Given the description of an element on the screen output the (x, y) to click on. 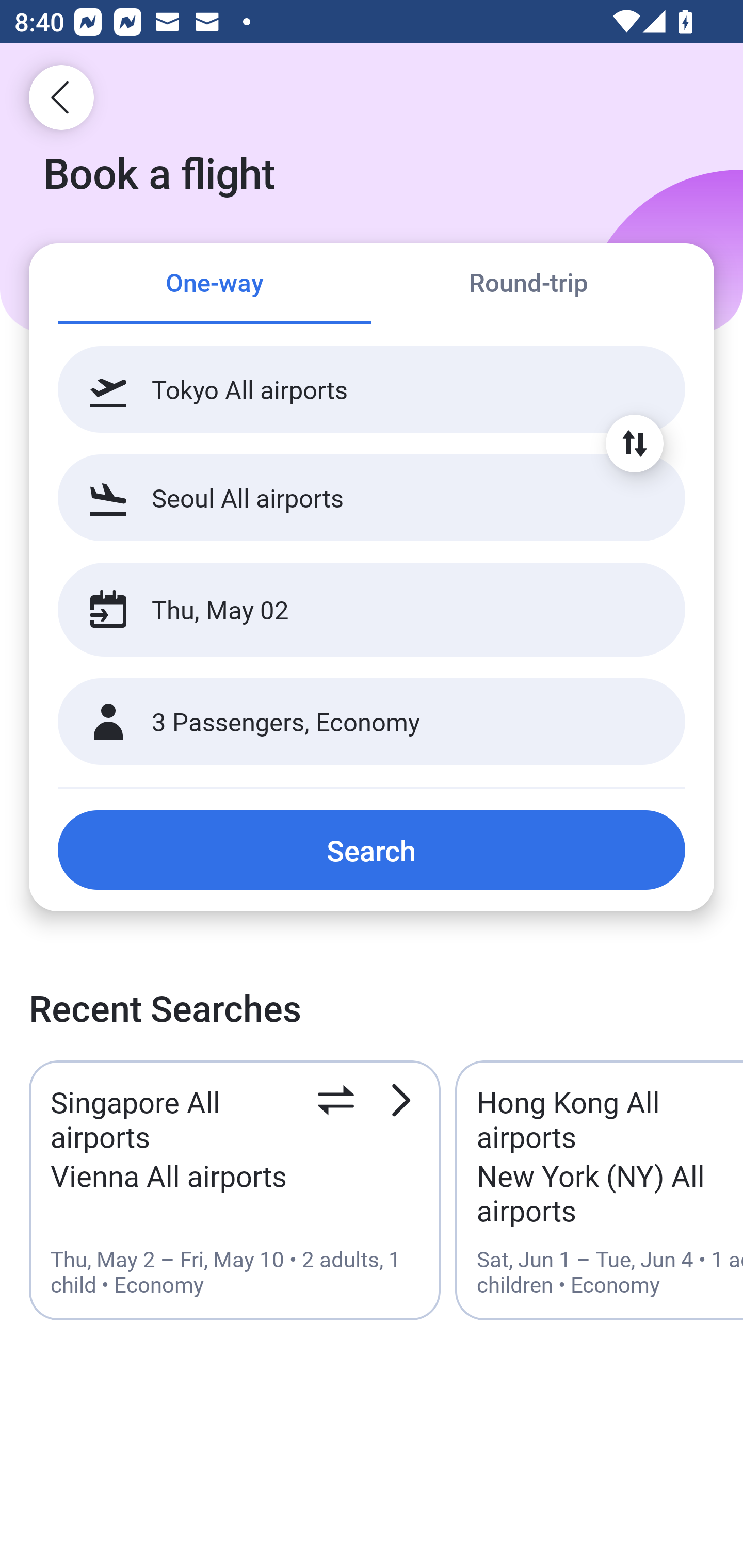
Round-trip (528, 284)
Tokyo All airports (371, 389)
Seoul All airports (371, 497)
Thu, May 02 (349, 609)
3 Passengers, Economy (371, 721)
Search (371, 849)
